Given the description of an element on the screen output the (x, y) to click on. 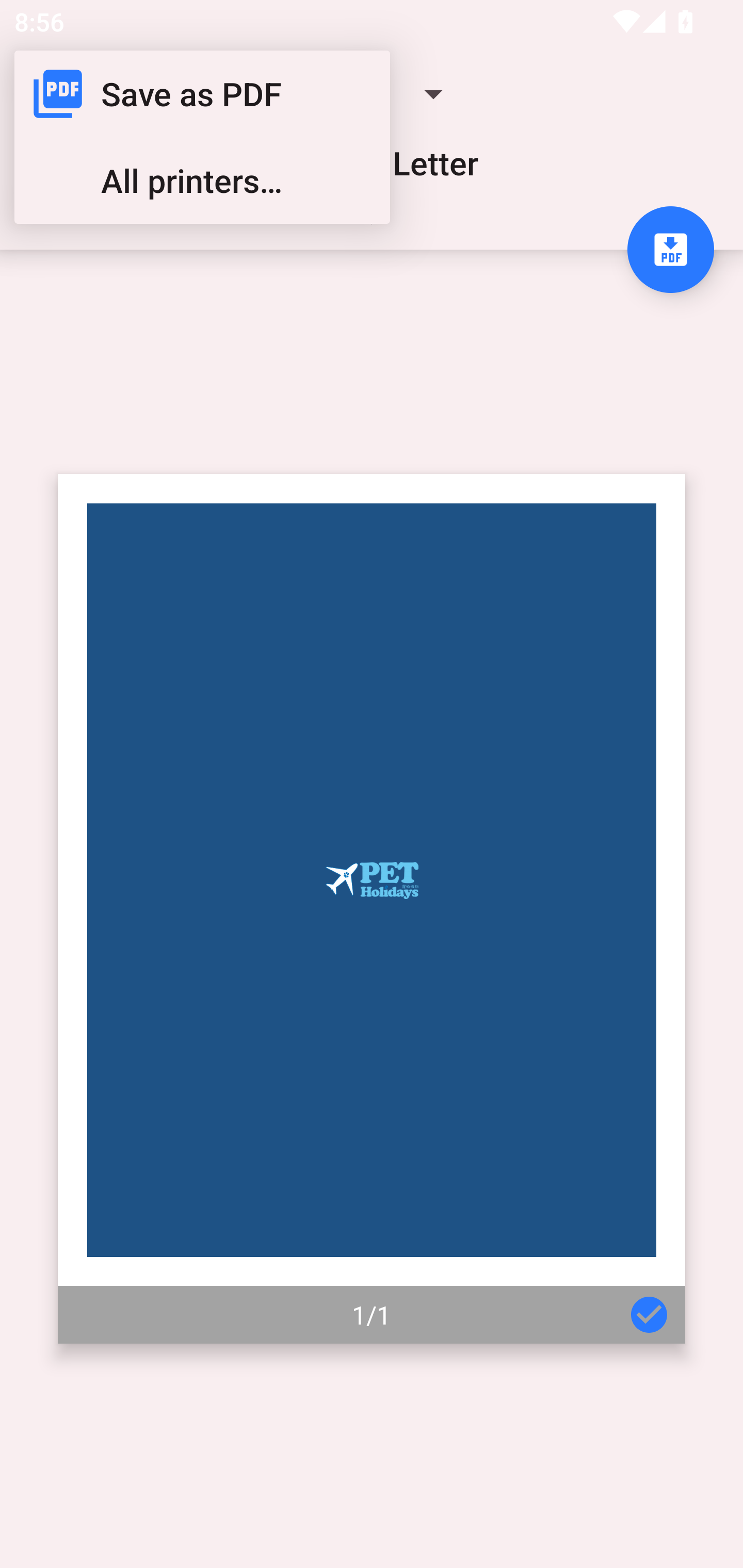
Save as PDF (202, 93)
All printers… (202, 180)
